Given the description of an element on the screen output the (x, y) to click on. 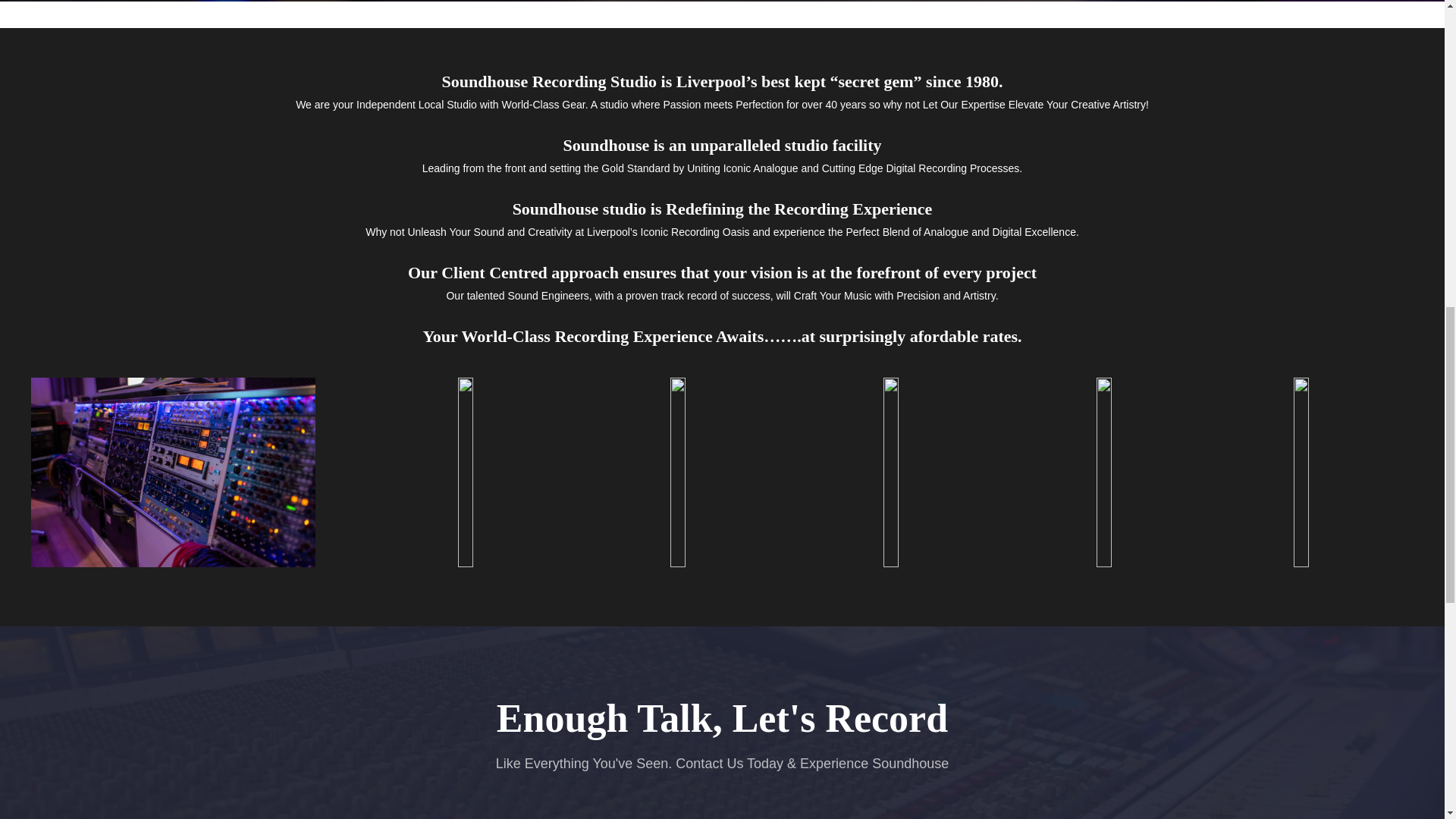
PHOTO-2022-02-15-20-59-25 17 (465, 472)
PHOTO-2022-02-15-20-59-25 20 (172, 472)
fx rack 1 2 and 4 track (1300, 472)
PHOTO-2022-02-15-20-59-25 11 (891, 472)
